Given the description of an element on the screen output the (x, y) to click on. 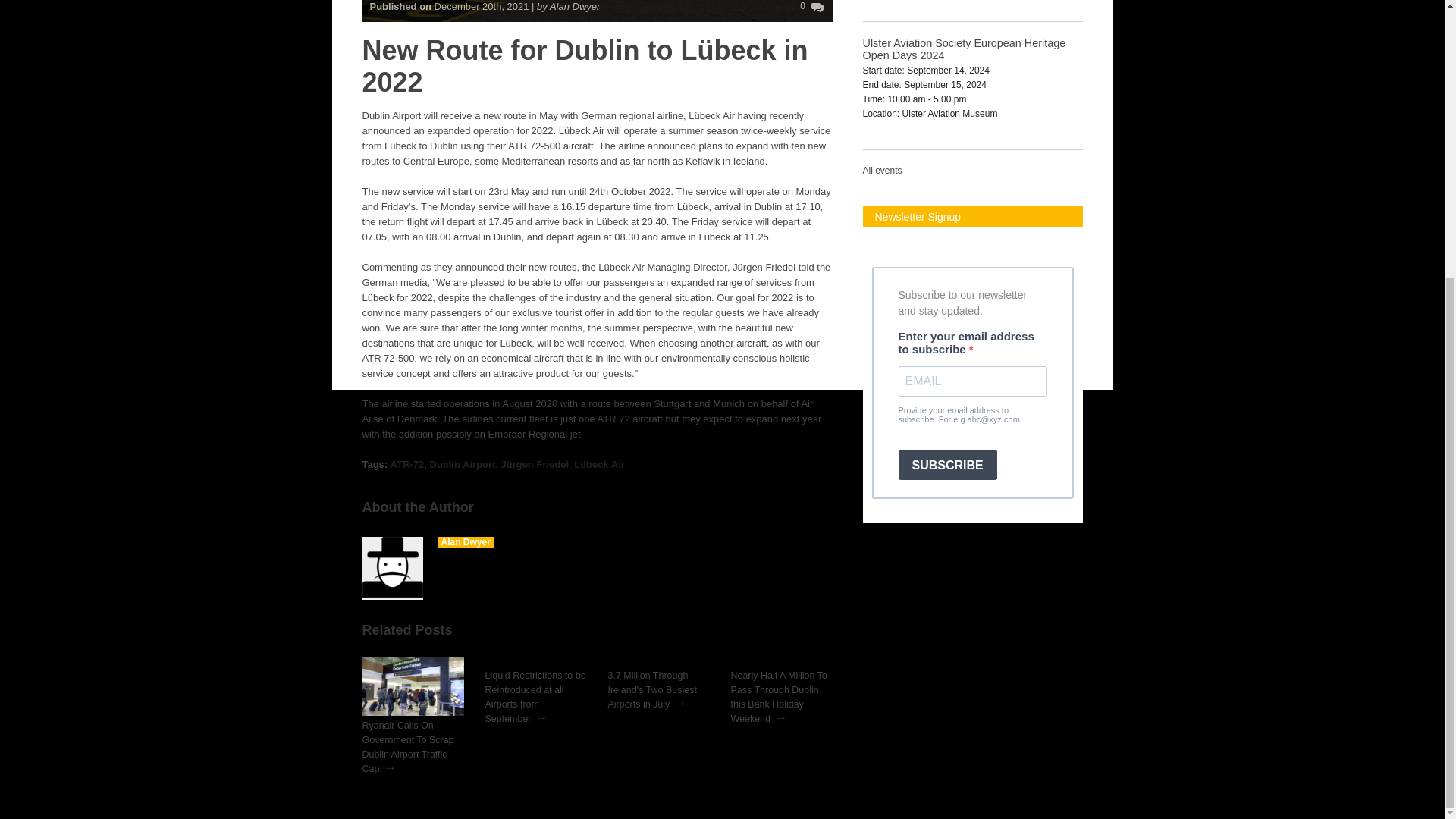
SUBSCRIBE (946, 464)
All events (882, 170)
Posts by Alan Dwyer (465, 542)
Ulster Aviation Society European Heritage Open Days 2024 (964, 48)
